Given the description of an element on the screen output the (x, y) to click on. 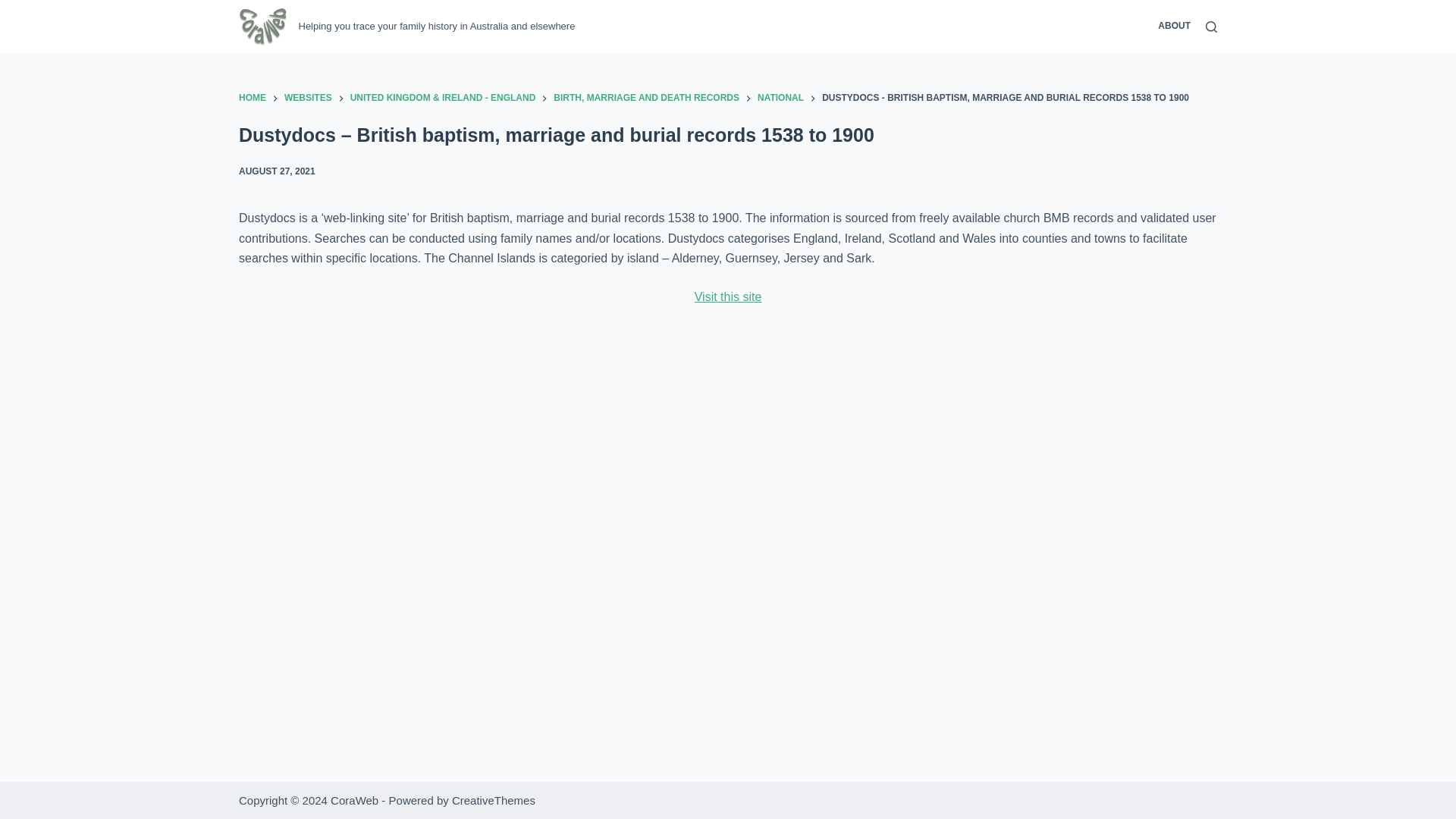
Skip to content (15, 7)
WEBSITES (307, 98)
HOME (252, 98)
BIRTH, MARRIAGE AND DEATH RECORDS (646, 98)
Visit this site (727, 296)
NATIONAL (780, 98)
